Given the description of an element on the screen output the (x, y) to click on. 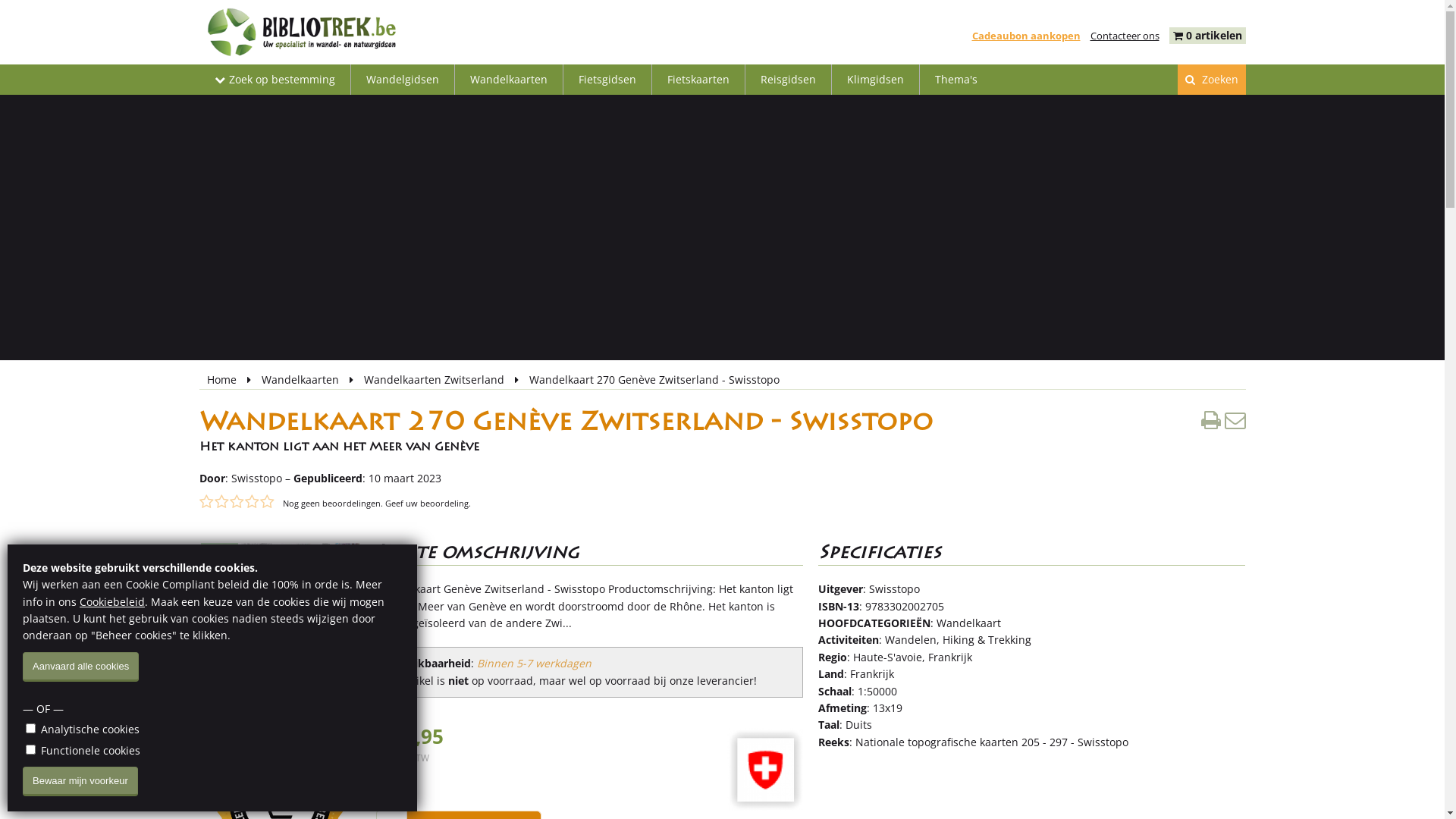
Wandelkaarten Zwitserland Element type: text (435, 379)
Bewaar mijn voorkeur Element type: text (80, 781)
Aanvaard alle cookies Element type: text (80, 666)
Wandelkaarten Element type: text (508, 79)
Cookiebeleid Element type: text (111, 601)
Wandelgidsen Element type: text (401, 79)
Zoeken Element type: text (1210, 79)
0 artikelen Element type: text (1214, 35)
Fietskaarten Element type: text (698, 79)
Cadeaubon aankopen Element type: text (1026, 35)
Reisgidsen Element type: text (787, 79)
Inkijkexemplaar Element type: text (258, 620)
Zoek op bestemming Element type: text (273, 79)
Thema's Element type: text (955, 79)
Fietsgidsen Element type: text (606, 79)
Home Element type: text (222, 379)
Nog geen beoordelingen. Geef uw beoordeling. Element type: text (376, 502)
Contacteer ons Element type: text (1124, 35)
Klimgidsen Element type: text (874, 79)
Wandelkaarten Element type: text (300, 379)
